Given the description of an element on the screen output the (x, y) to click on. 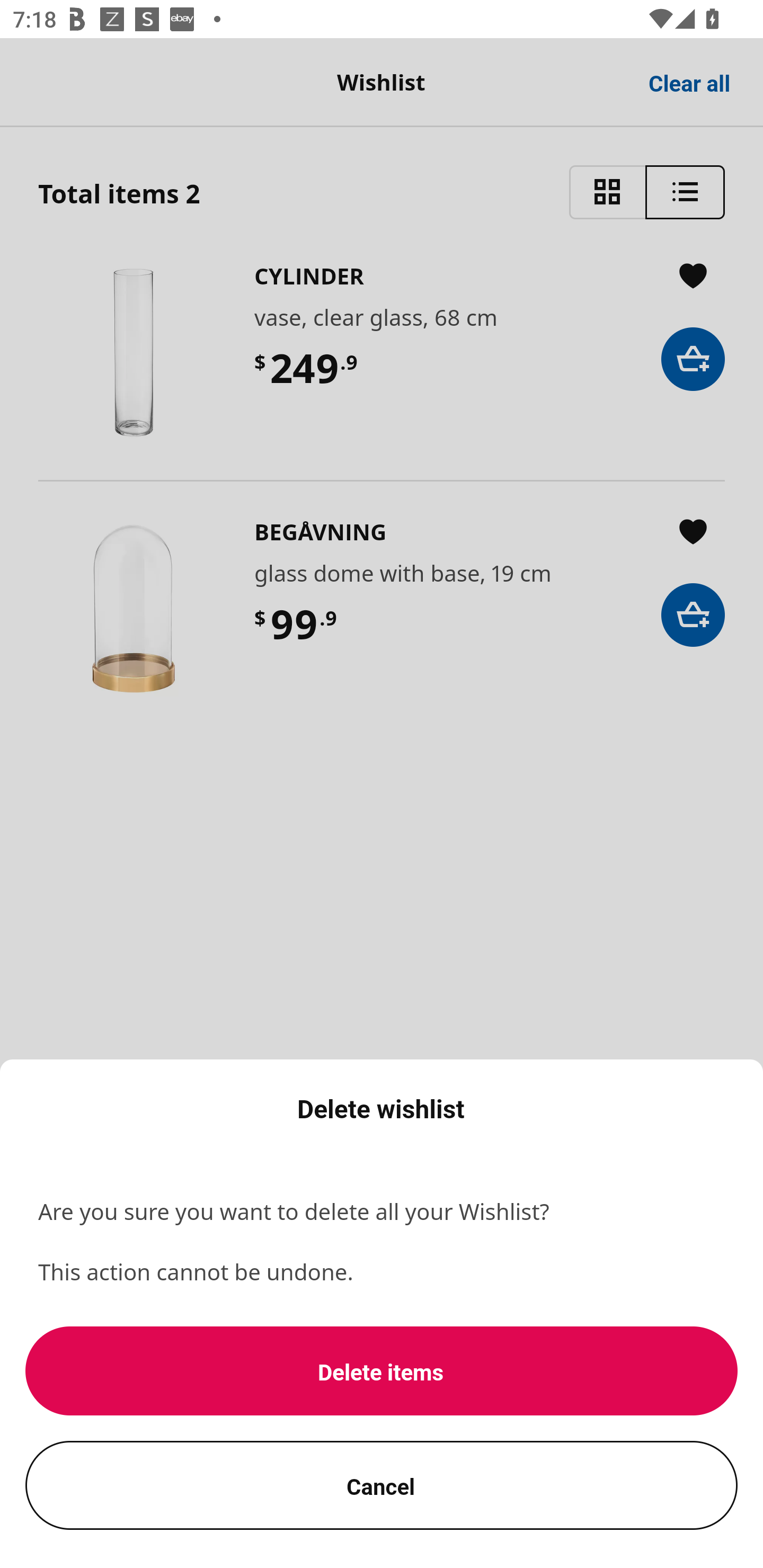
Delete items (381, 1370)
Cancel (381, 1485)
